Given the description of an element on the screen output the (x, y) to click on. 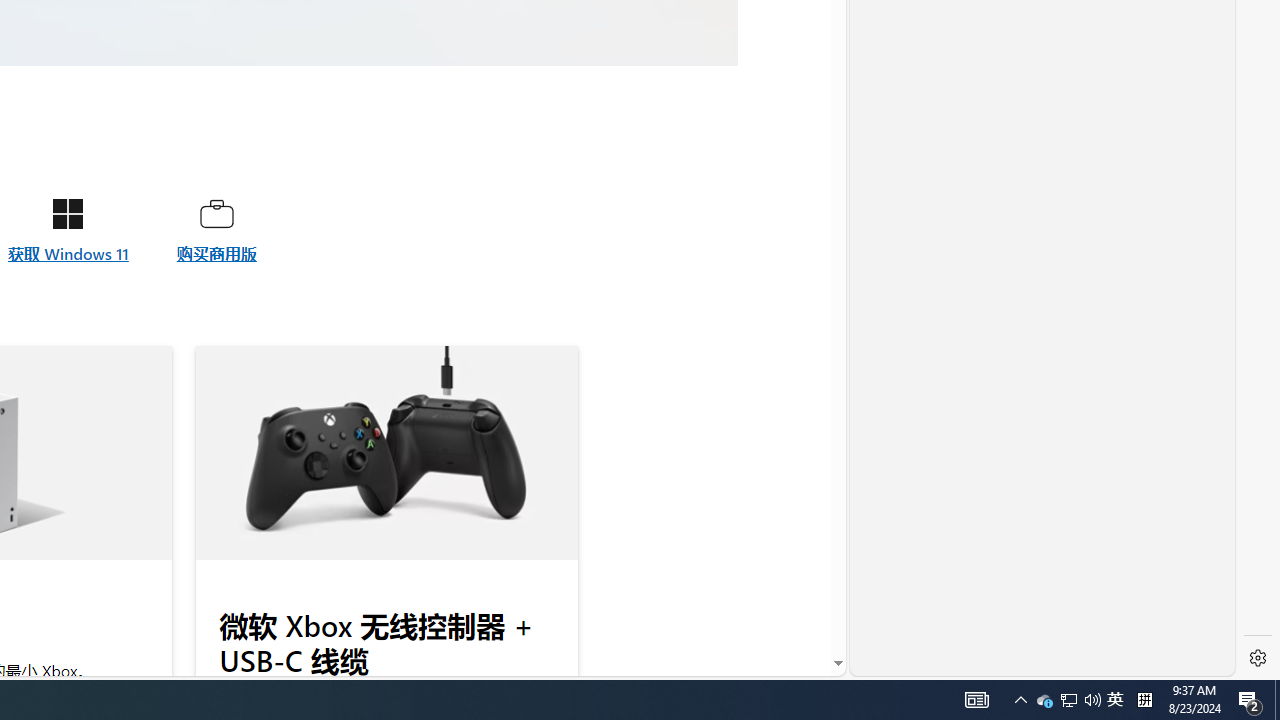
A pair of Xbox Wireless Controllers with USB-C Cable. (386, 453)
